Given the description of an element on the screen output the (x, y) to click on. 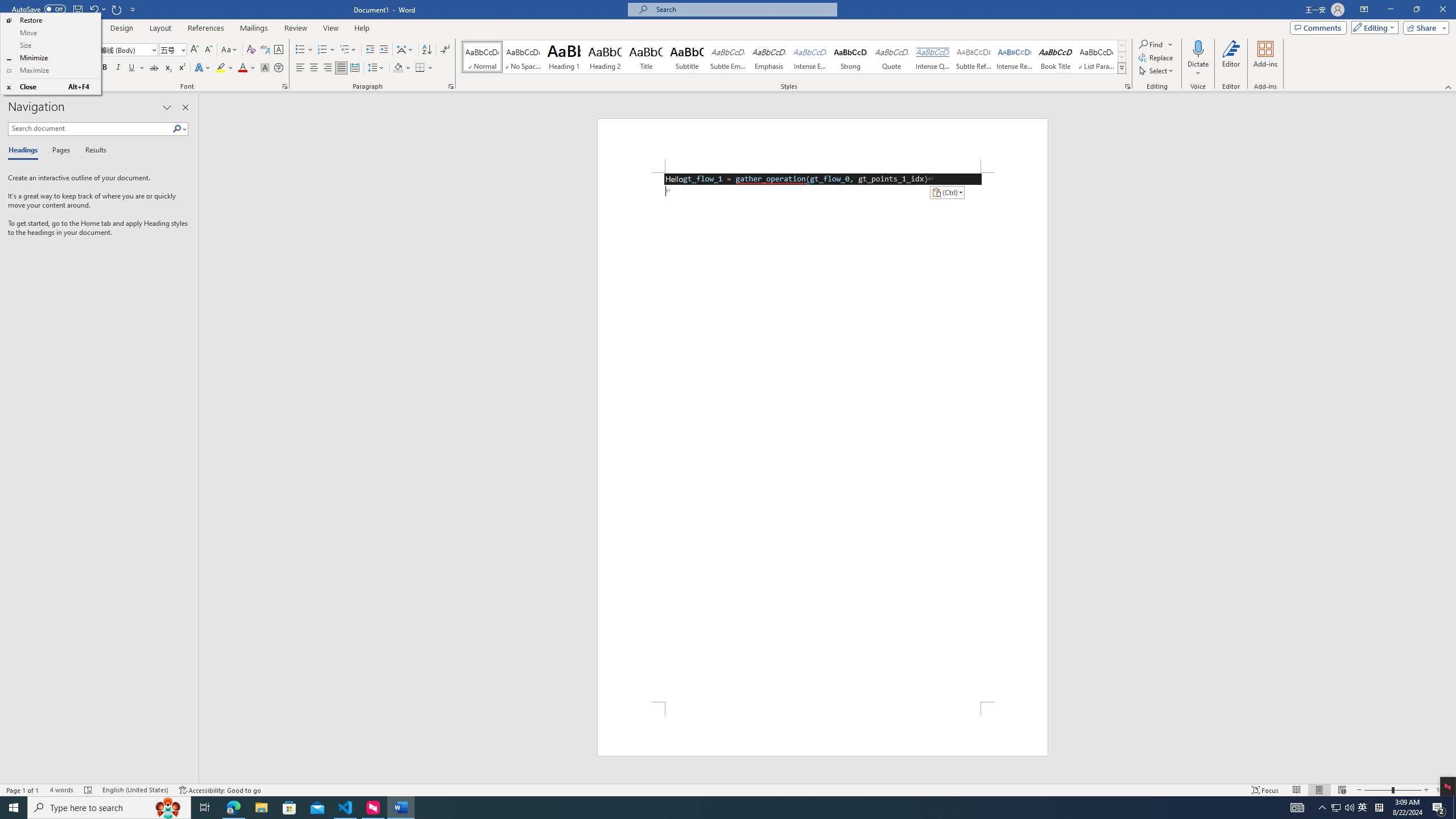
Move (50, 33)
Maximize (50, 69)
Subtle Reference (973, 56)
Undo Paste (92, 9)
